Given the description of an element on the screen output the (x, y) to click on. 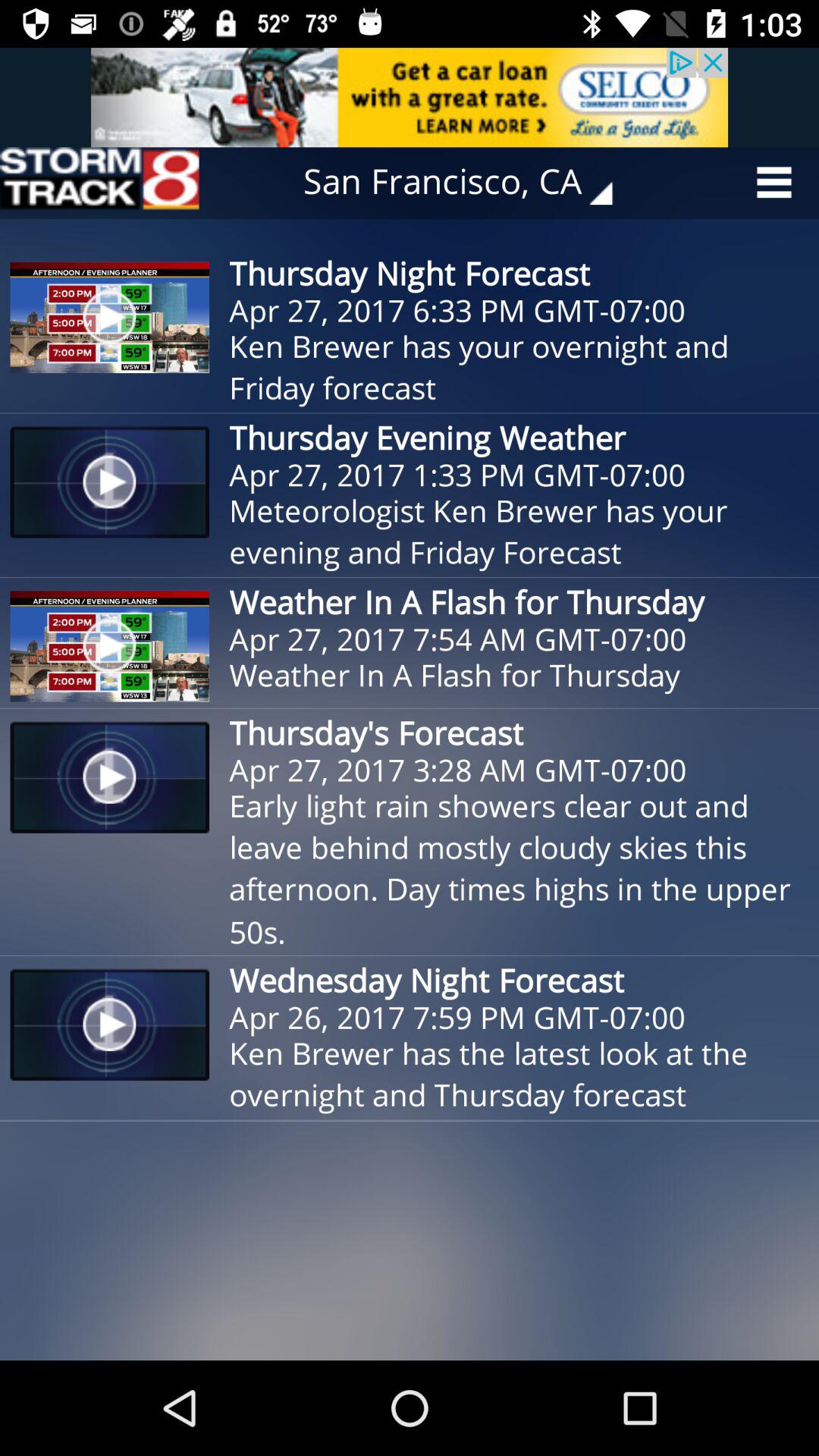
advertisement (409, 97)
